Given the description of an element on the screen output the (x, y) to click on. 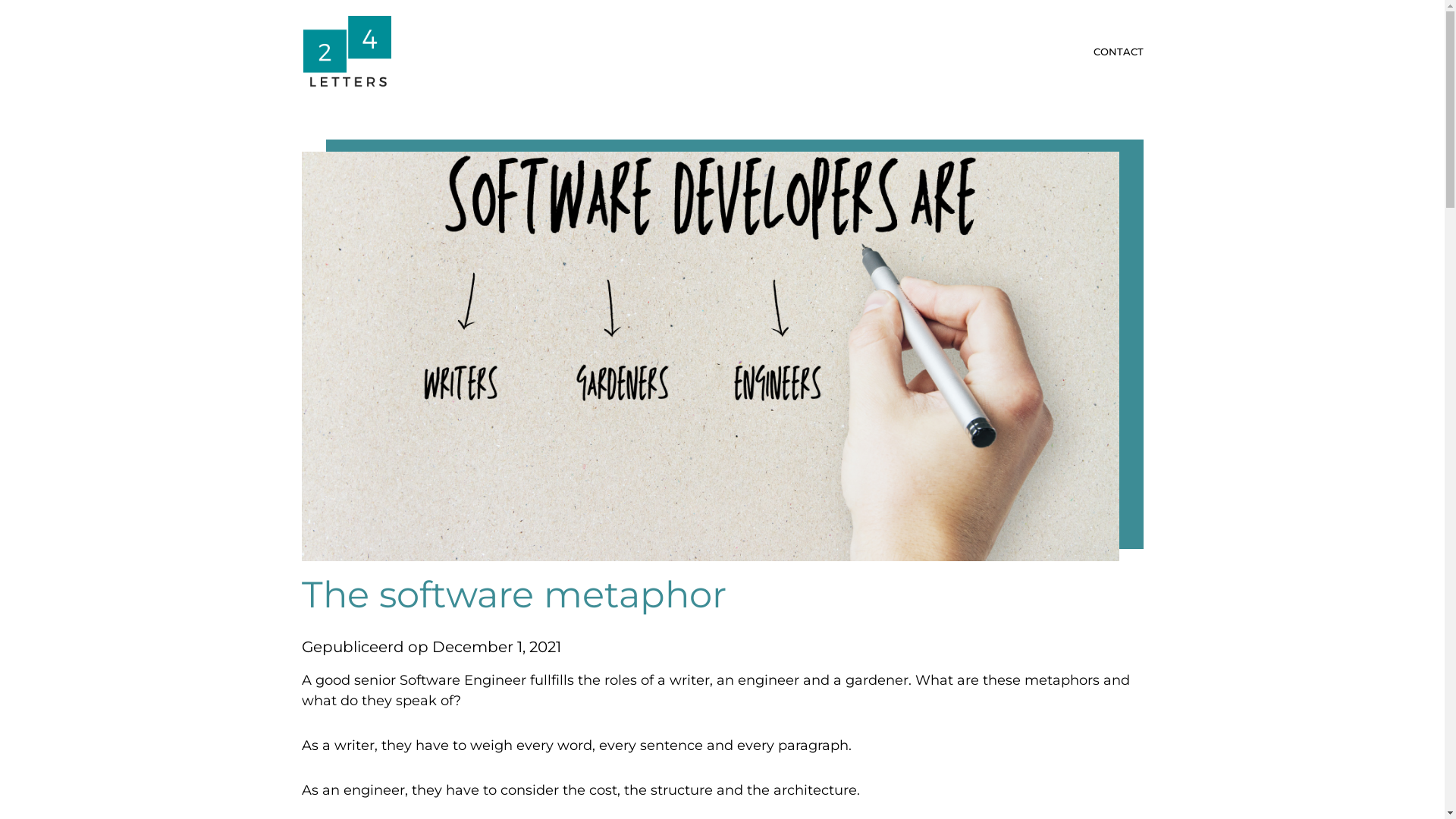
contact Element type: text (1118, 50)
December 1, 2021 Element type: text (496, 646)
